Given the description of an element on the screen output the (x, y) to click on. 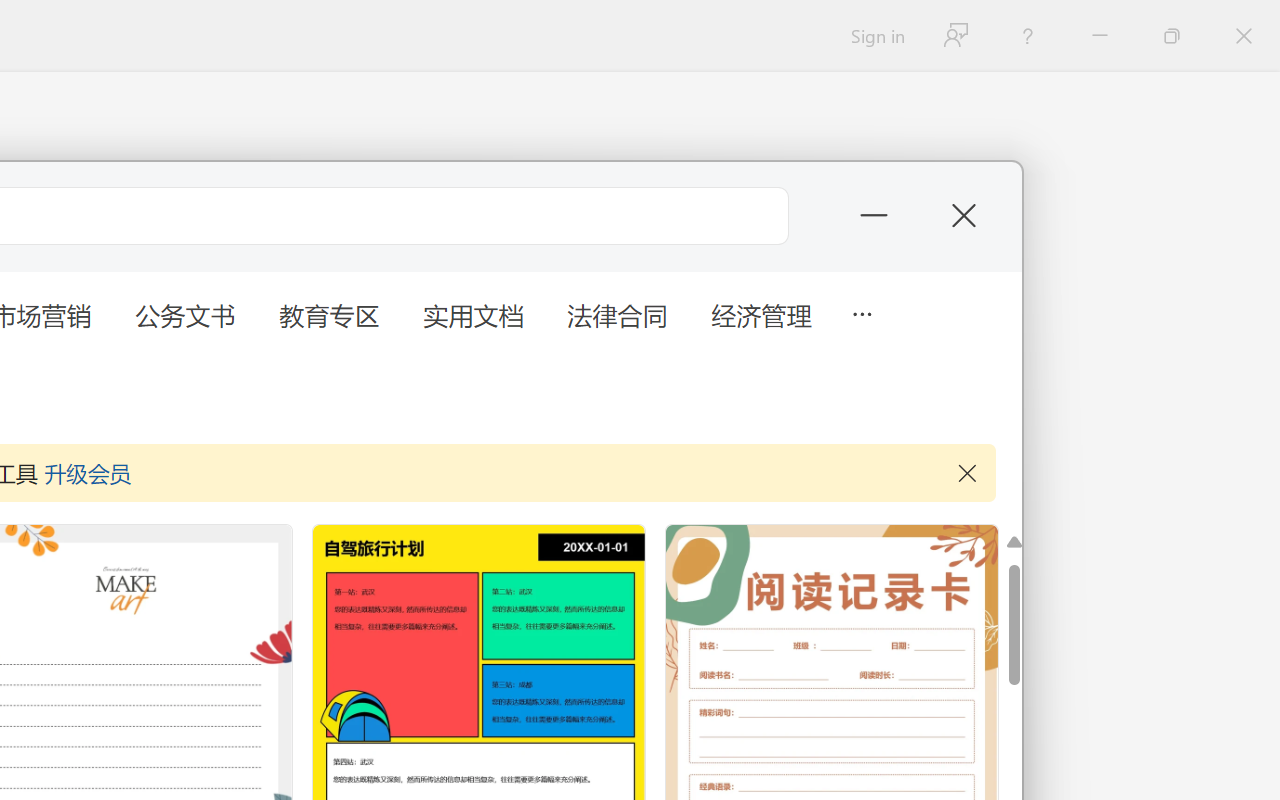
5 more tabs (861, 312)
Sign in (875, 35)
